Given the description of an element on the screen output the (x, y) to click on. 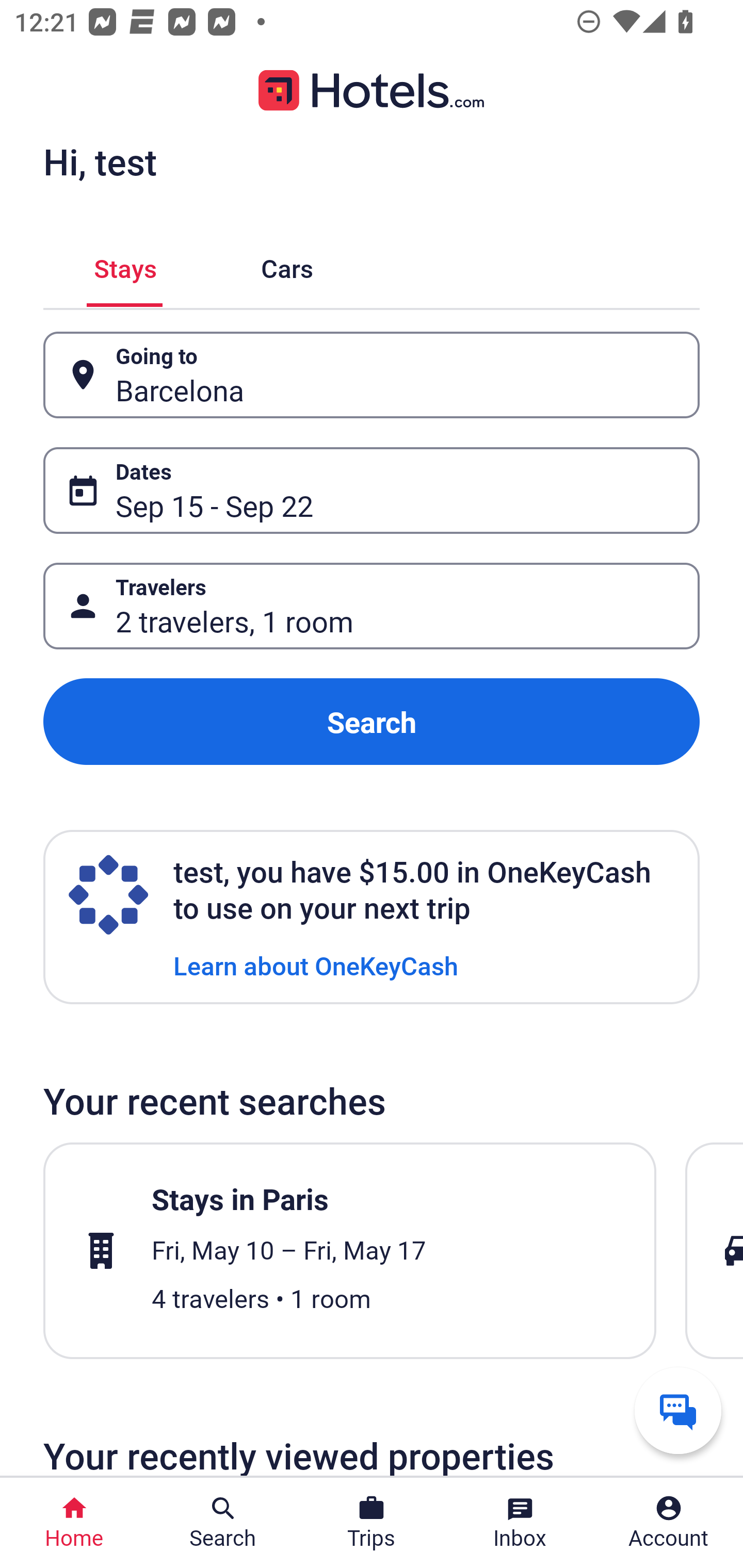
Hi, test (99, 161)
Cars (286, 265)
Going to Button Barcelona (371, 375)
Dates Button Sep 15 - Sep 22 (371, 489)
Travelers Button 2 travelers, 1 room (371, 605)
Search (371, 721)
Learn about OneKeyCash Learn about OneKeyCash Link (315, 964)
Get help from a virtual agent (677, 1410)
Search Search Button (222, 1522)
Trips Trips Button (371, 1522)
Inbox Inbox Button (519, 1522)
Account Profile. Button (668, 1522)
